Given the description of an element on the screen output the (x, y) to click on. 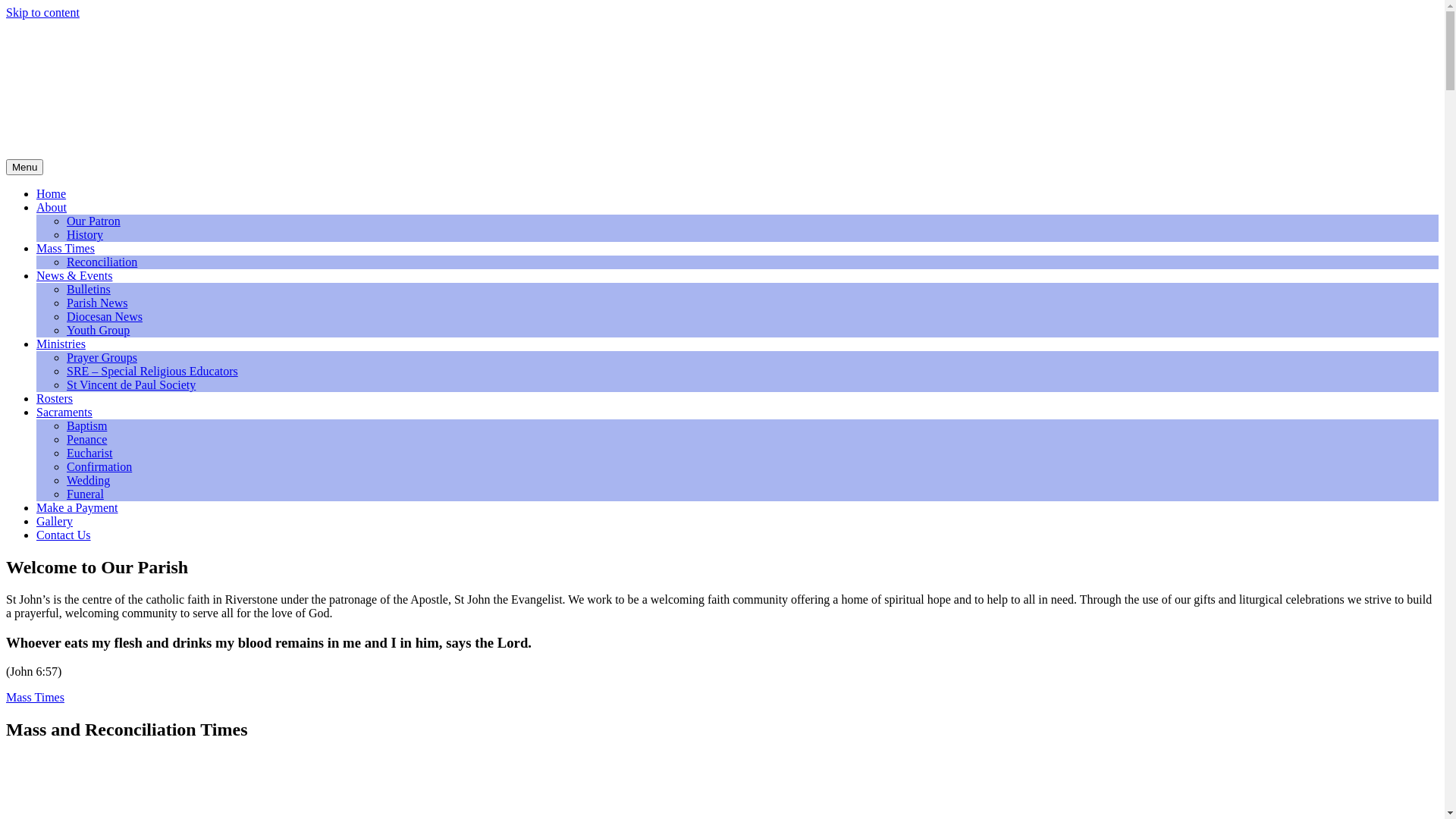
Sacraments Element type: text (64, 411)
Mass Times Element type: text (35, 696)
Rosters Element type: text (54, 398)
History Element type: text (84, 234)
Contact Us Element type: text (63, 534)
Reconciliation Element type: text (101, 261)
Mass Times Element type: text (65, 247)
Eucharist Element type: text (89, 452)
Make a Payment Element type: text (77, 507)
Penance Element type: text (86, 439)
Parish News Element type: text (96, 302)
Home Element type: text (50, 193)
About Element type: text (51, 206)
Youth Group Element type: text (97, 329)
Funeral Element type: text (84, 493)
Prayer Groups Element type: text (101, 357)
Our Patron Element type: text (93, 220)
Ministries Element type: text (60, 343)
Confirmation Element type: text (98, 466)
Skip to content Element type: text (42, 12)
Gallery Element type: text (54, 520)
Baptism Element type: text (86, 425)
Wedding Element type: text (87, 479)
Bulletins Element type: text (88, 288)
Diocesan News Element type: text (104, 316)
News & Events Element type: text (74, 275)
Menu Element type: text (24, 167)
St Vincent de Paul Society Element type: text (130, 384)
